Given the description of an element on the screen output the (x, y) to click on. 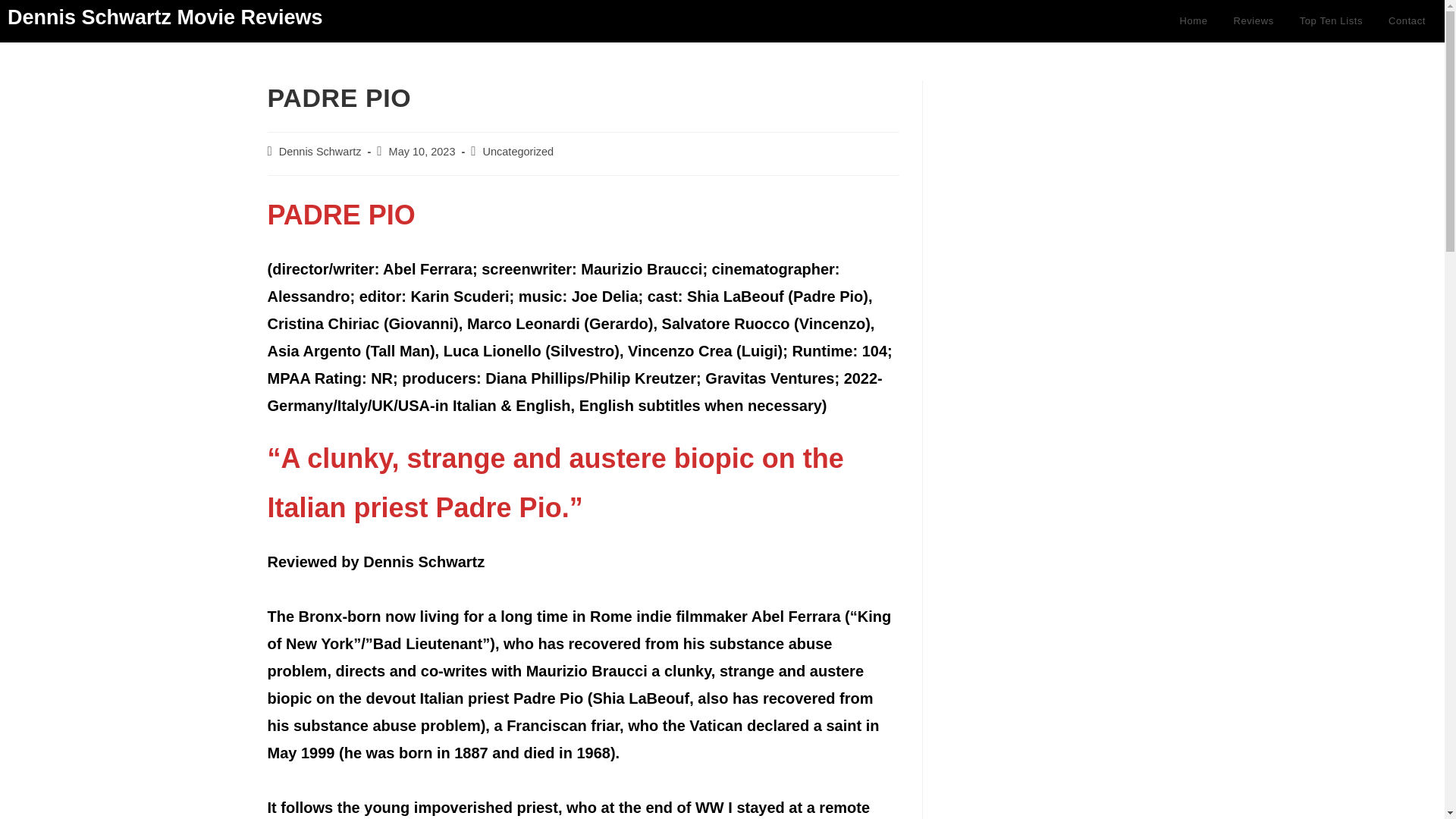
Dennis Schwartz (320, 151)
Top Ten Lists (1331, 21)
Reviews (1252, 21)
Uncategorized (518, 151)
Posts by Dennis Schwartz (320, 151)
Contact (1407, 21)
Home (1192, 21)
